Given the description of an element on the screen output the (x, y) to click on. 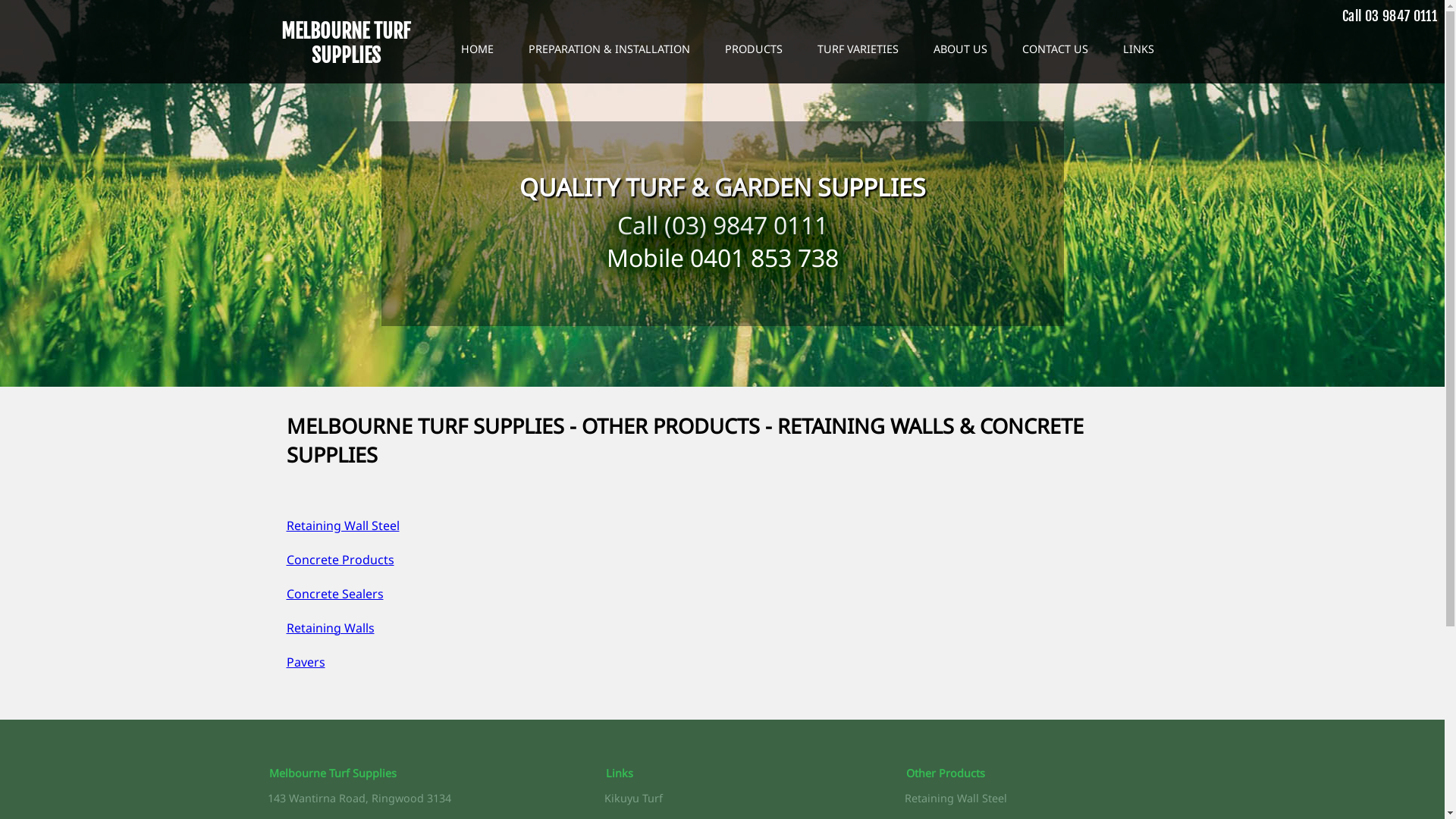
Retaining Walls Element type: text (330, 627)
Kikuyu Turf Element type: text (632, 797)
Pavers Element type: text (305, 661)
PRODUCTS Element type: text (752, 48)
ABOUT US Element type: text (960, 48)
LINKS Element type: text (1138, 48)
Retaining Wall Steel Element type: text (954, 797)
CONTACT US Element type: text (1054, 48)
Concrete Products Element type: text (340, 559)
PREPARATION & INSTALLATION Element type: text (609, 48)
Concrete Sealers Element type: text (334, 593)
Retaining Wall Steel Element type: text (342, 525)
TURF VARIETIES Element type: text (857, 48)
143 Wantirna Road, Ringwood 3134 Element type: text (358, 797)
HOME Element type: text (476, 48)
Mobile 0401 853 738 Element type: text (722, 257)
Call (03) 9847 0111 Element type: text (722, 224)
